Given the description of an element on the screen output the (x, y) to click on. 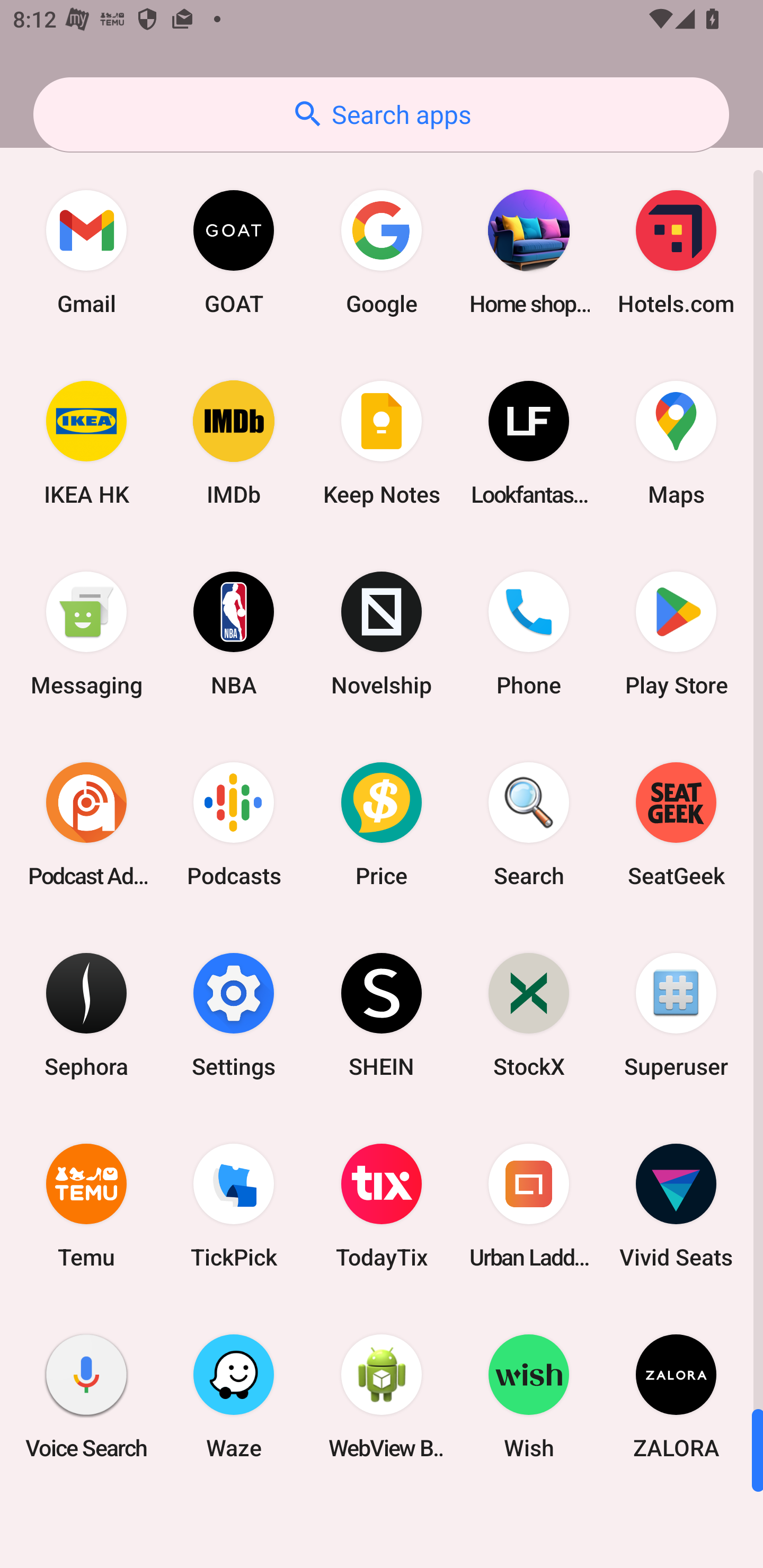
  Search apps (381, 114)
Gmail (86, 252)
GOAT (233, 252)
Google (381, 252)
Home shopping (528, 252)
Hotels.com (676, 252)
IKEA HK (86, 442)
IMDb (233, 442)
Keep Notes (381, 442)
Lookfantastic (528, 442)
Maps (676, 442)
Messaging (86, 633)
NBA (233, 633)
Novelship (381, 633)
Phone (528, 633)
Play Store (676, 633)
Podcast Addict (86, 823)
Podcasts (233, 823)
Price (381, 823)
Search (528, 823)
SeatGeek (676, 823)
Sephora (86, 1014)
Settings (233, 1014)
SHEIN (381, 1014)
StockX (528, 1014)
Superuser (676, 1014)
Temu (86, 1205)
TickPick (233, 1205)
TodayTix (381, 1205)
Urban Ladder (528, 1205)
Vivid Seats (676, 1205)
Voice Search (86, 1396)
Waze (233, 1396)
WebView Browser Tester (381, 1396)
Wish (528, 1396)
ZALORA (676, 1396)
